Given the description of an element on the screen output the (x, y) to click on. 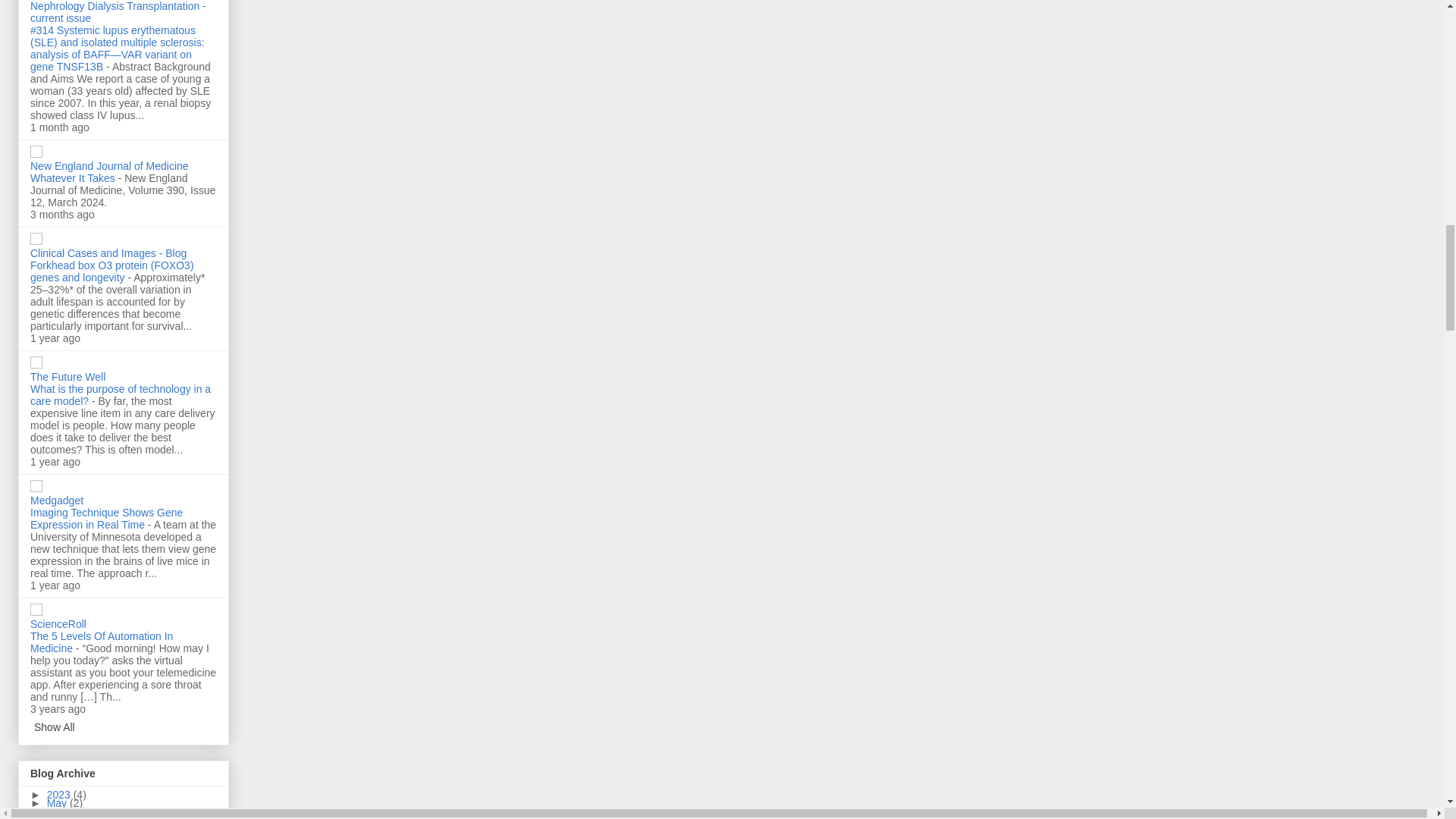
Medgadget (56, 500)
Whatever It Takes (73, 177)
New England Journal of Medicine (109, 165)
Clinical Cases and Images - Blog (108, 253)
The Future Well (67, 377)
Nephrology Dialysis Transplantation - current issue (118, 12)
ScienceRoll (57, 623)
Imaging Technique Shows Gene Expression in Real Time (106, 518)
The 5 Levels Of Automation In Medicine (101, 641)
What is the purpose of technology in a care model? (120, 395)
